Given the description of an element on the screen output the (x, y) to click on. 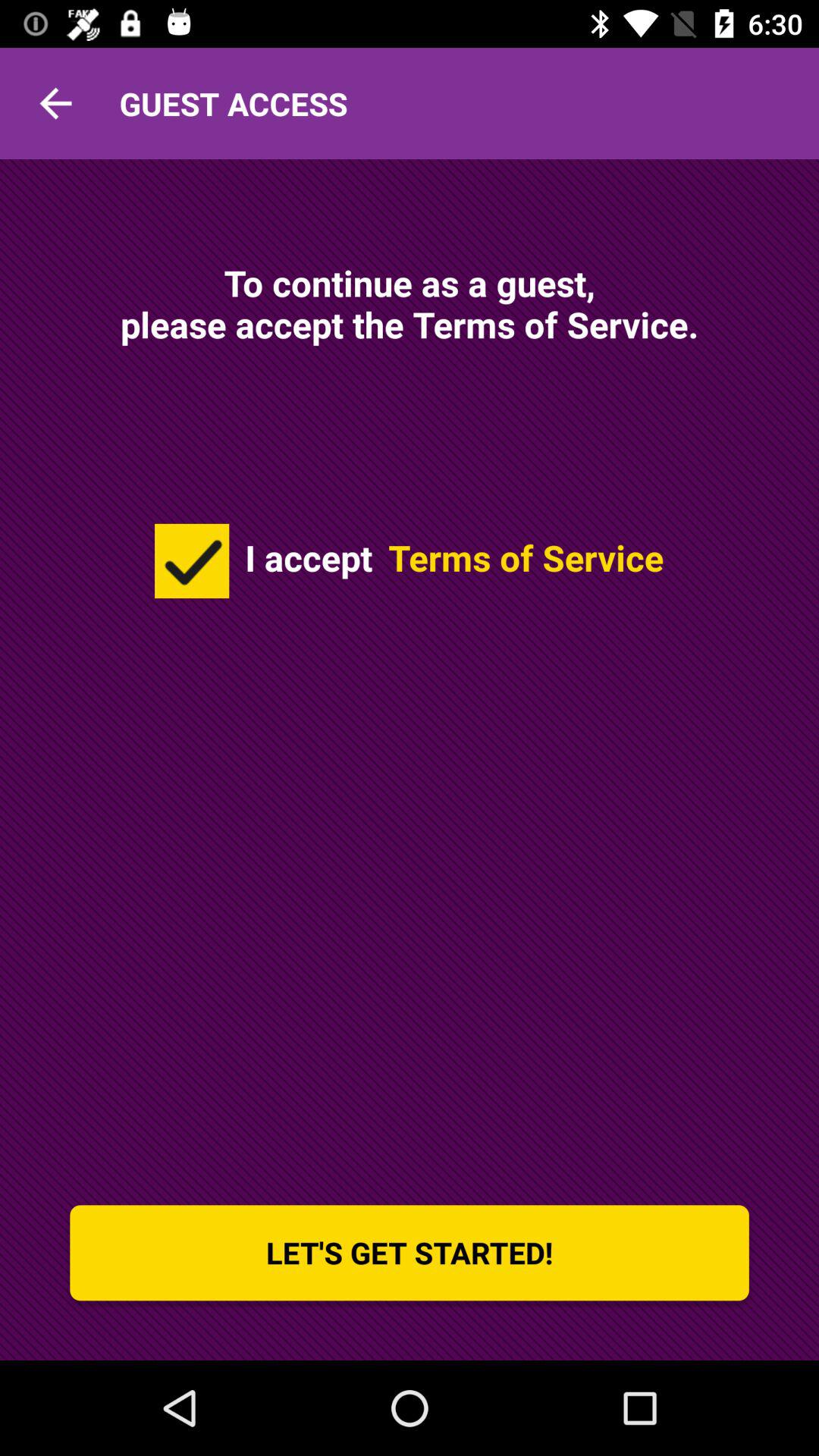
turn on icon next to the guest access item (55, 103)
